Given the description of an element on the screen output the (x, y) to click on. 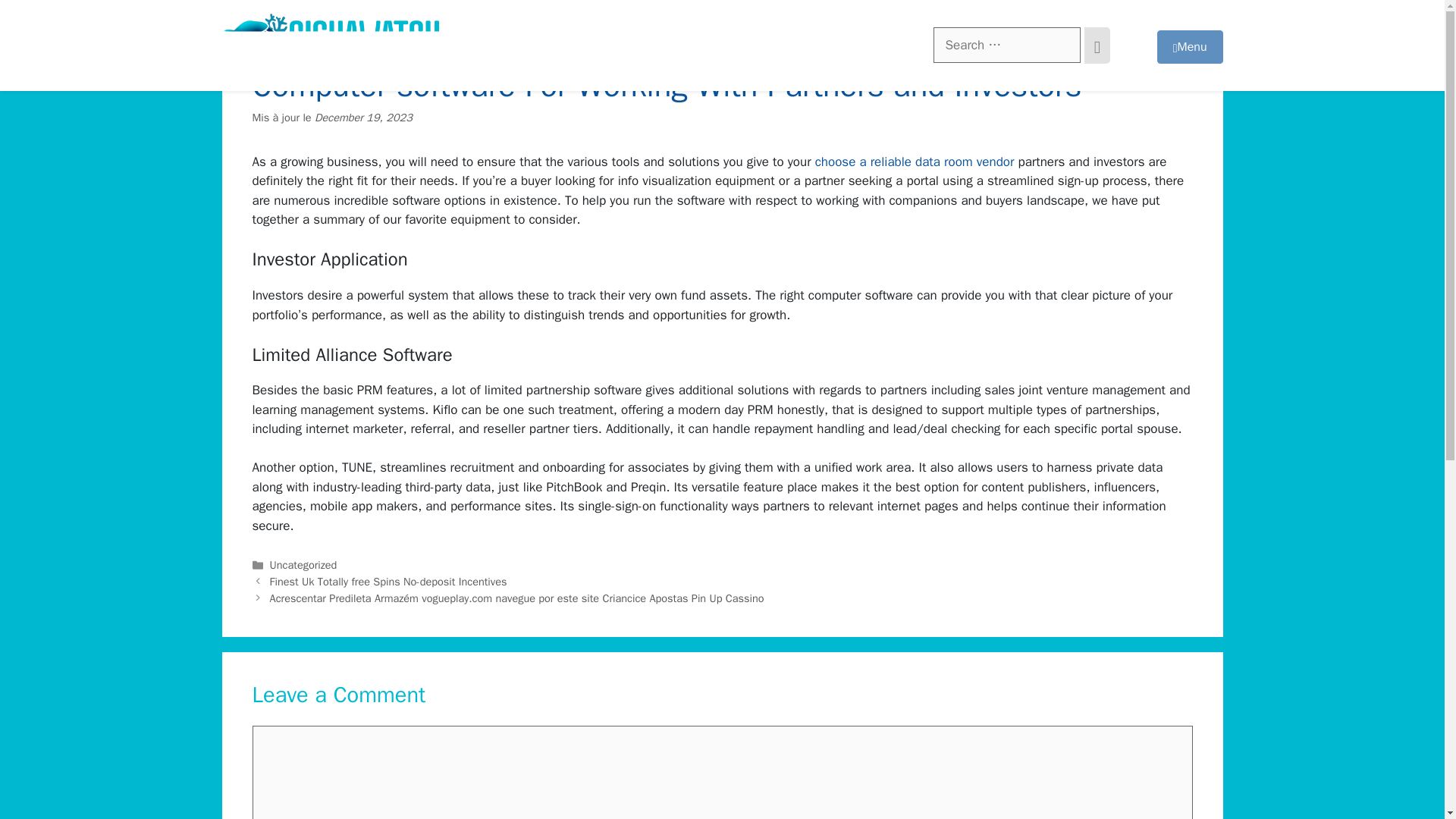
Uncategorized (303, 564)
Previous (387, 581)
Finest Uk Totally free Spins No-deposit Incentives (387, 581)
Next (516, 598)
Menu (1190, 46)
Search for: (1006, 45)
choose a reliable data room vendor (914, 161)
